Given the description of an element on the screen output the (x, y) to click on. 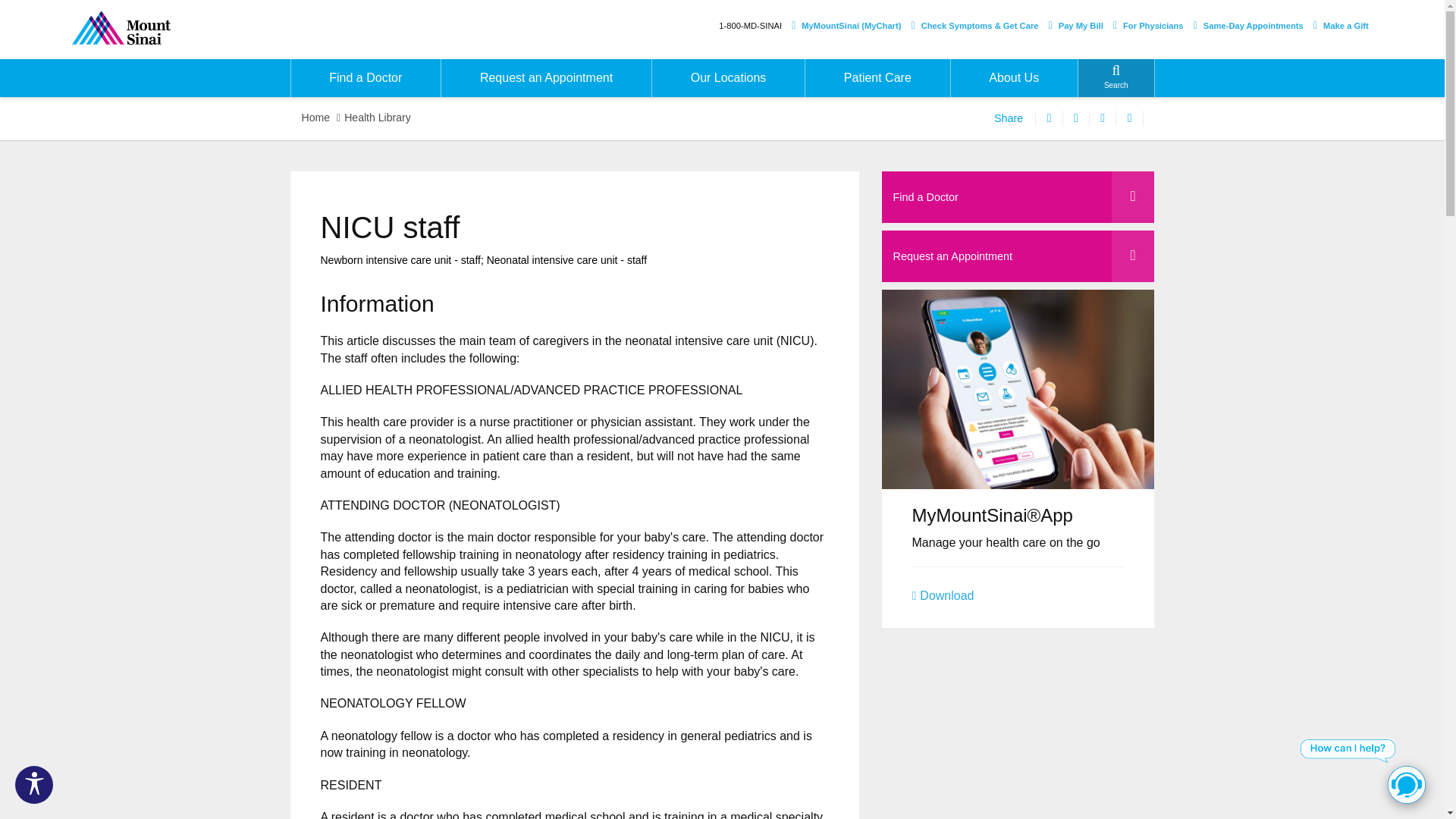
Find a Doctor (366, 77)
Request an Appointment (545, 77)
Accessibility Menu (33, 784)
Patient Care (877, 77)
Our Locations (728, 77)
